Given the description of an element on the screen output the (x, y) to click on. 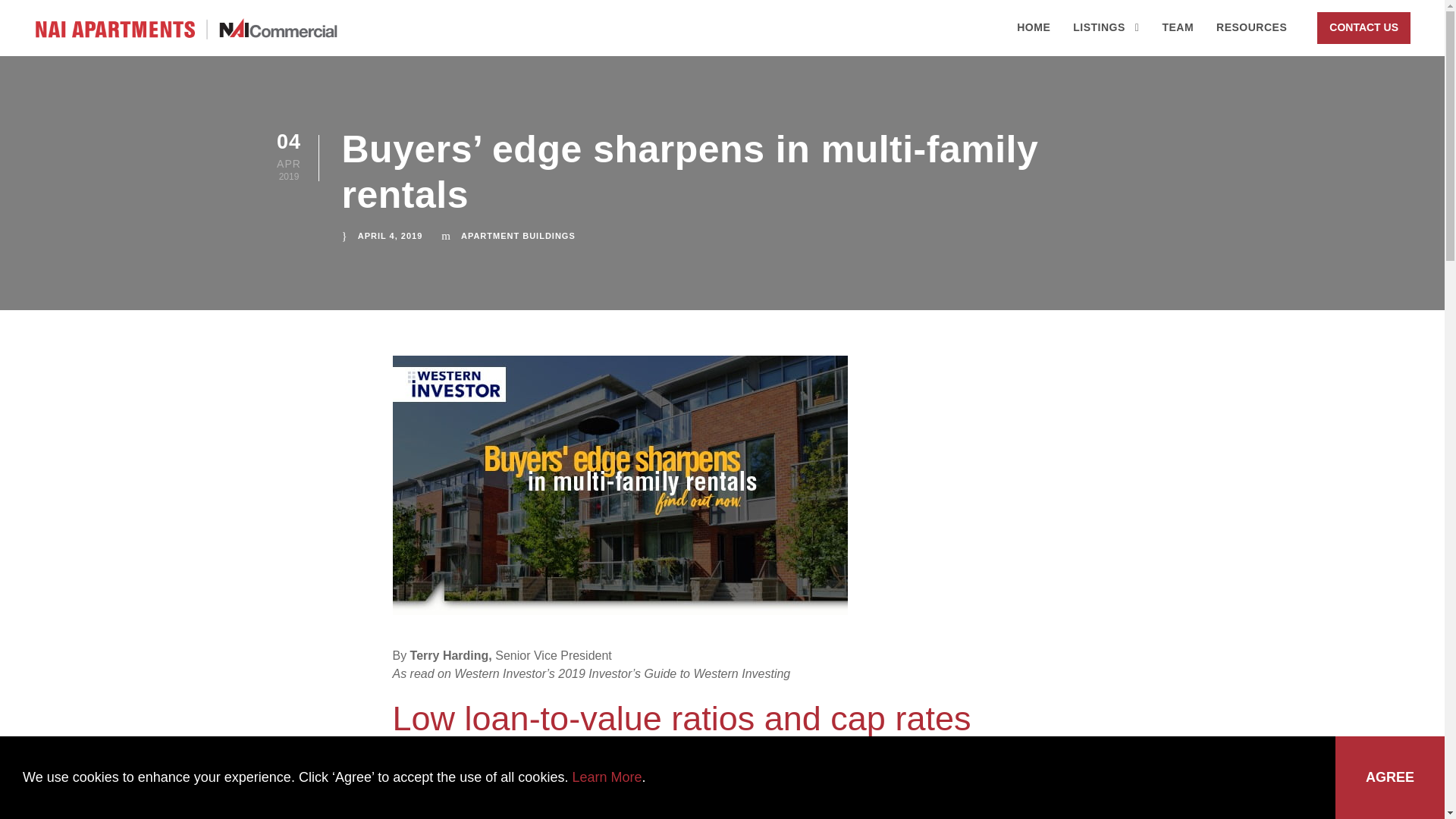
APRIL 4, 2019 (390, 235)
CONTACT US (1363, 28)
TEAM (1177, 37)
LISTINGS (1105, 37)
HOME (1032, 37)
RESOURCES (1251, 37)
APARTMENT BUILDINGS (518, 235)
